Given the description of an element on the screen output the (x, y) to click on. 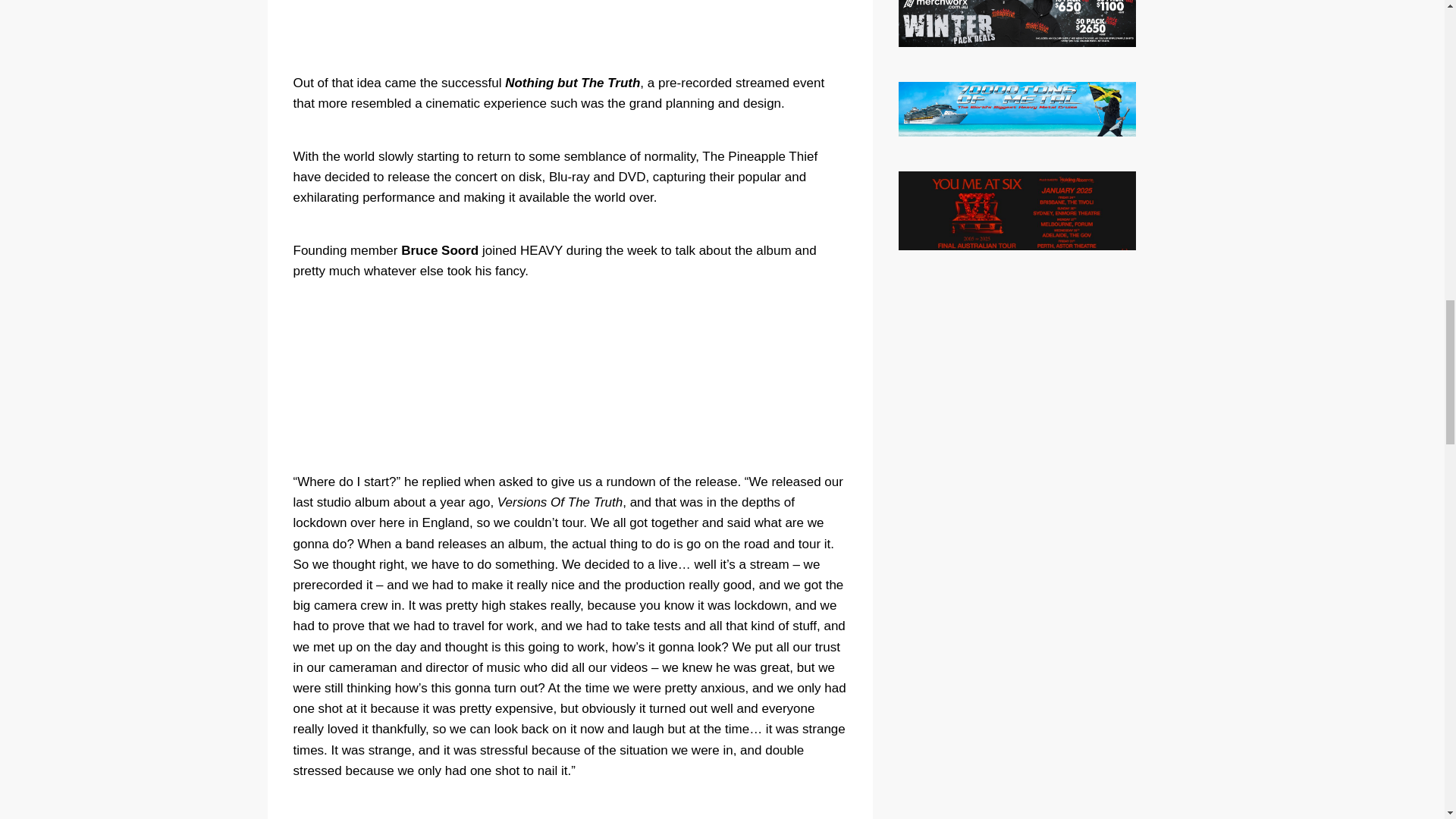
The Pineapple Thief - Wretched Soul (568, 27)
